Given the description of an element on the screen output the (x, y) to click on. 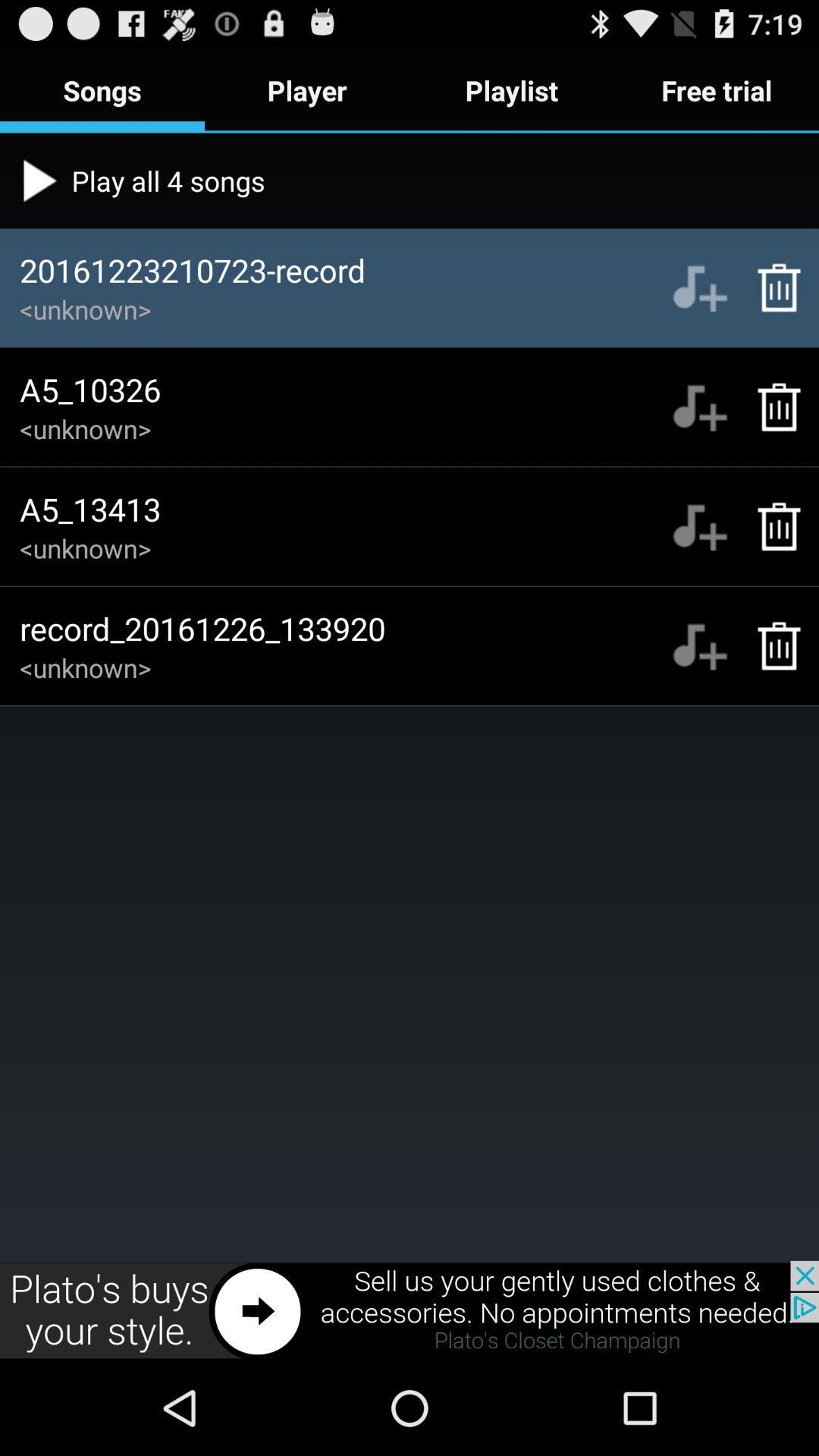
delete the record (771, 287)
